Given the description of an element on the screen output the (x, y) to click on. 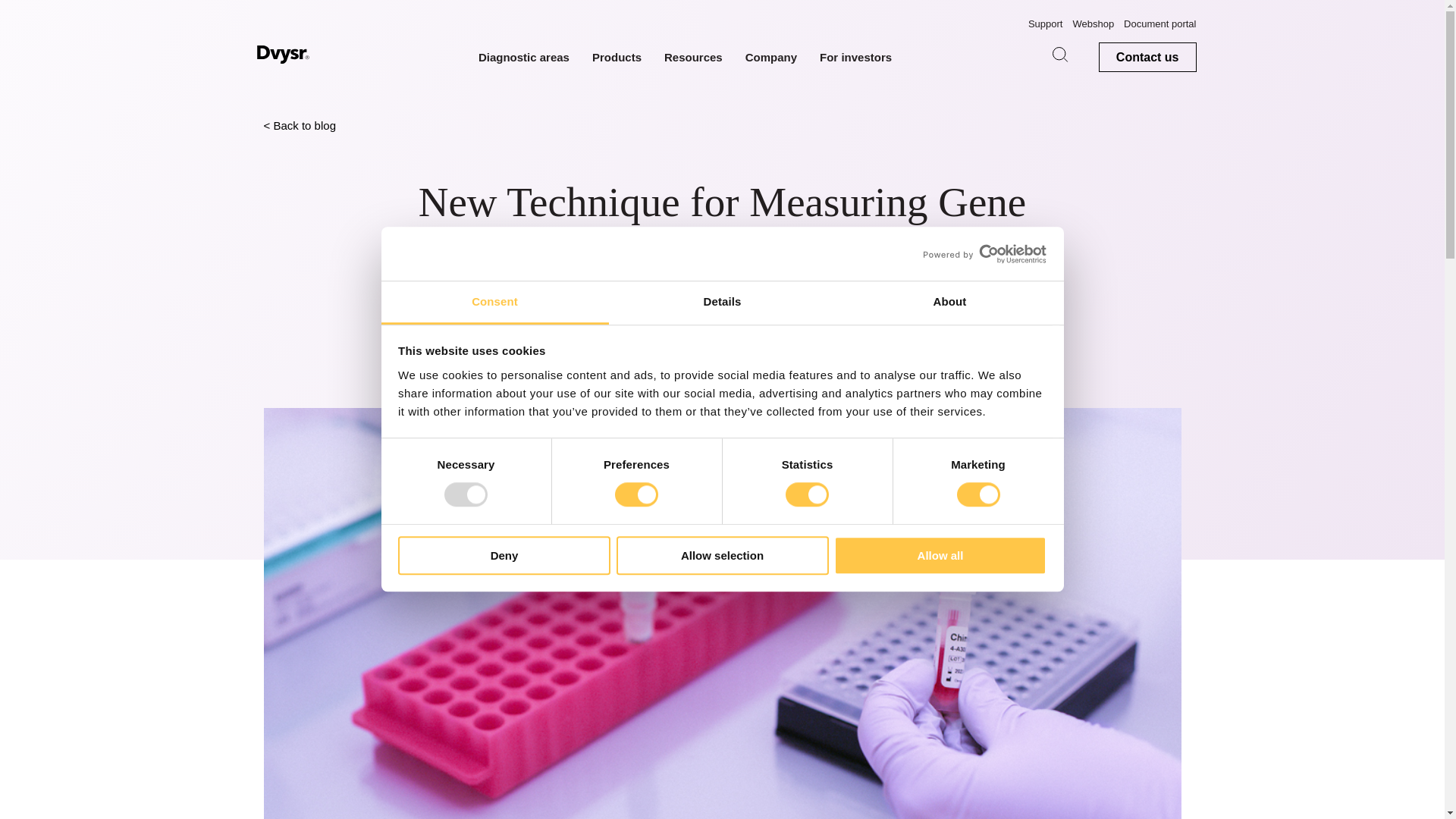
Details (721, 302)
Consent (494, 302)
About (948, 302)
